Given the description of an element on the screen output the (x, y) to click on. 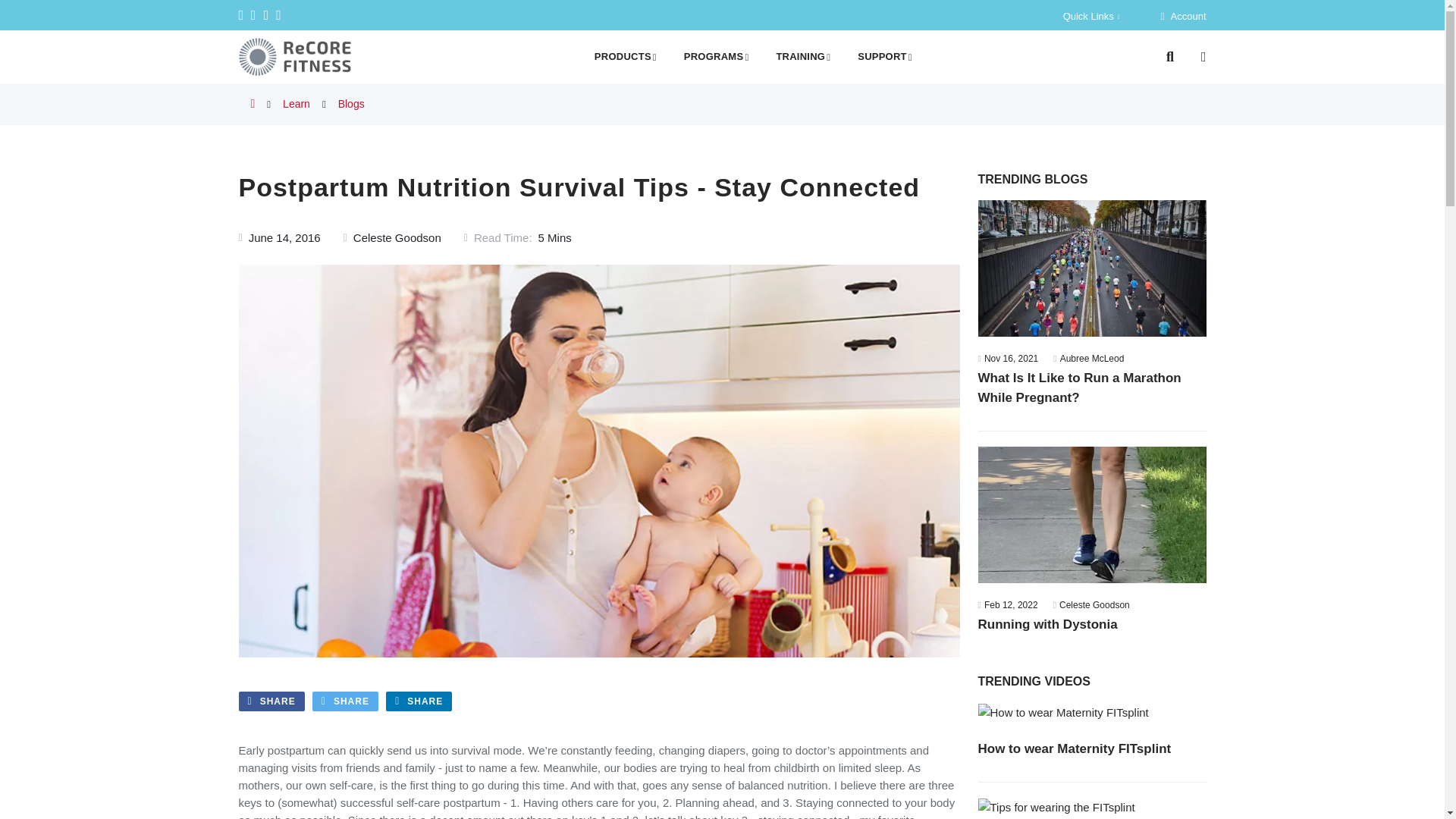
Account (1183, 15)
Quick Links (1091, 15)
